Given the description of an element on the screen output the (x, y) to click on. 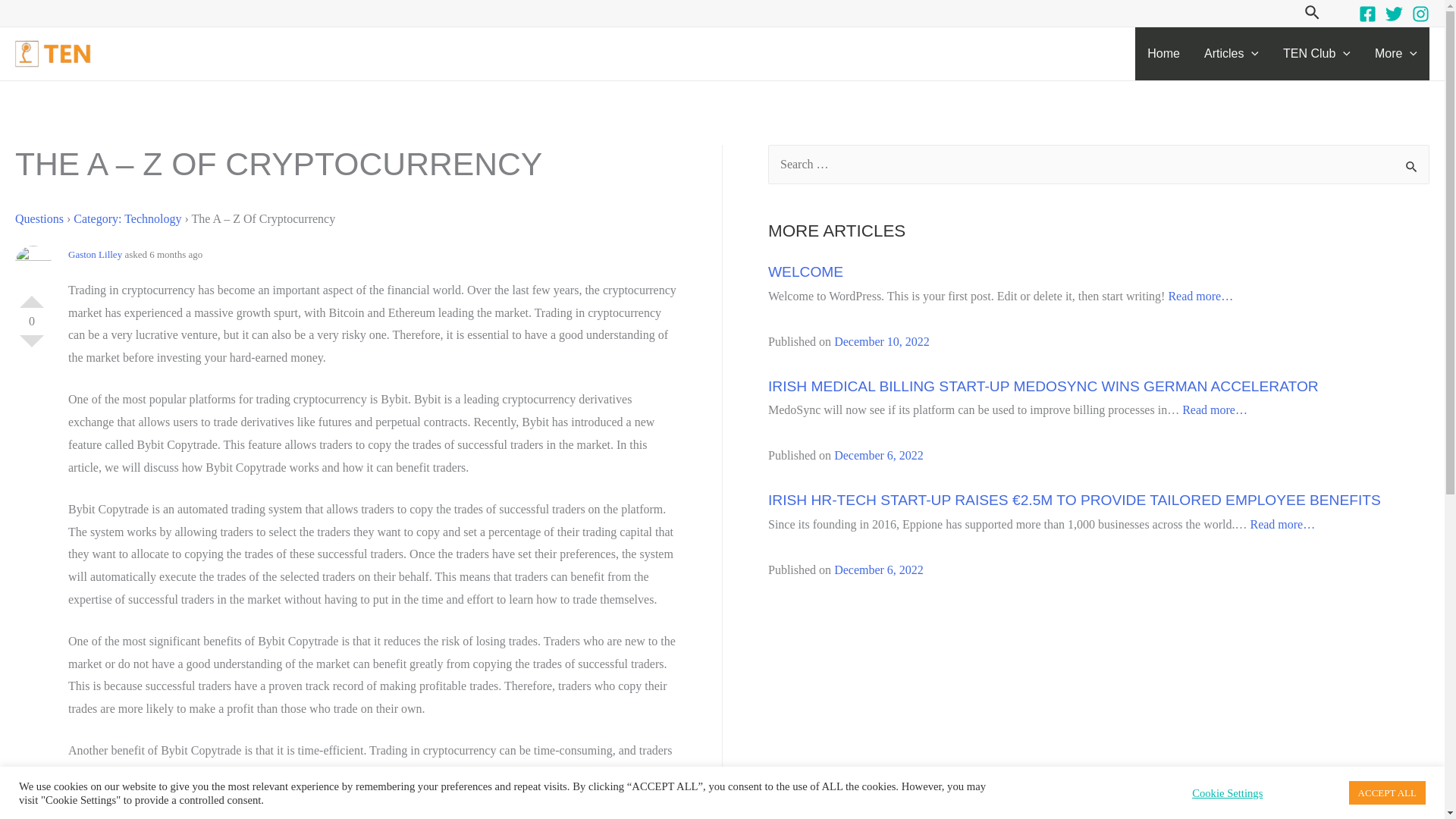
More (1395, 53)
Articles (1231, 53)
TEN Club (1316, 53)
Home (1163, 53)
